Given the description of an element on the screen output the (x, y) to click on. 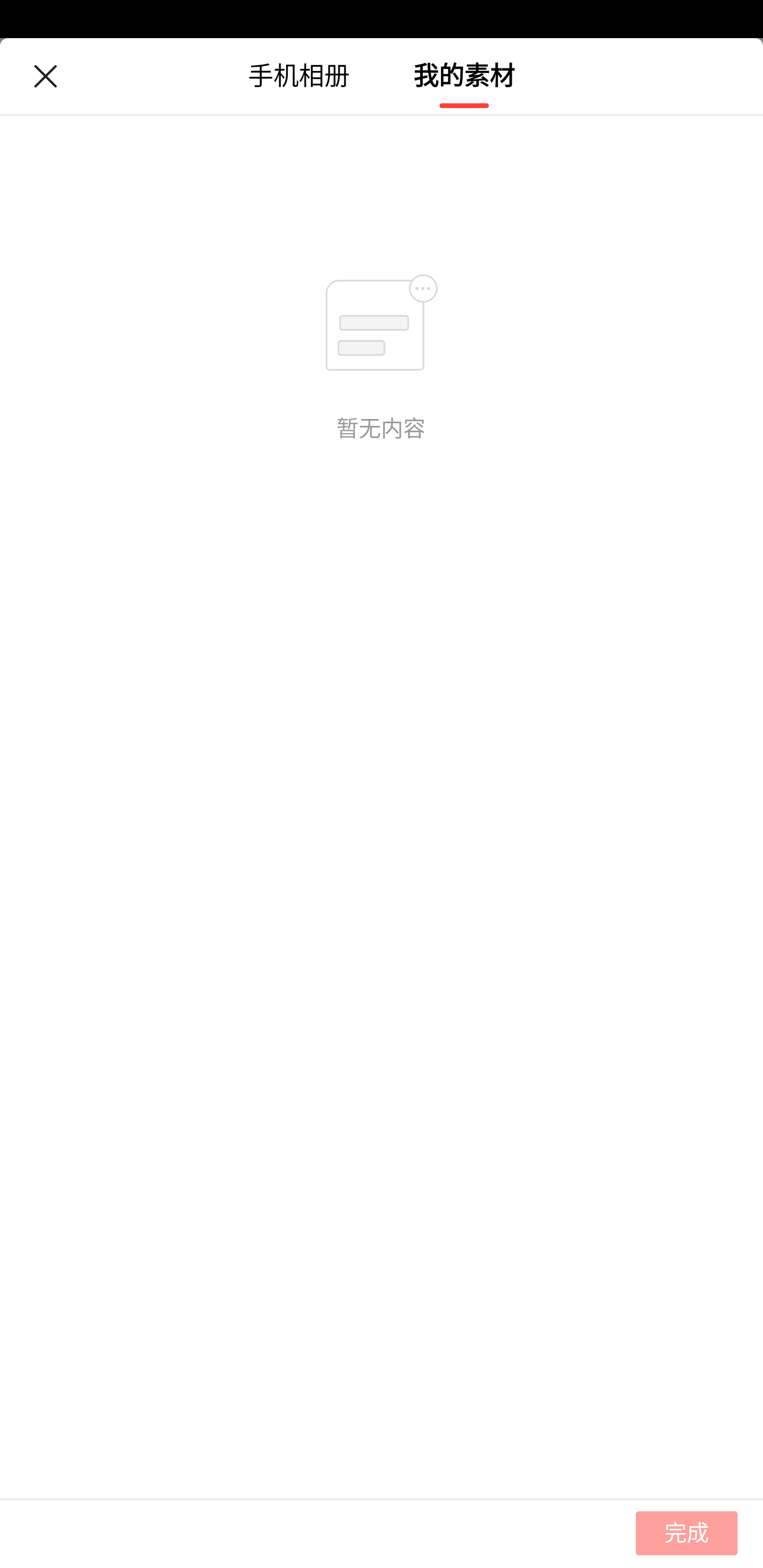
返回 (44, 75)
手机相册 (298, 75)
我的素材 (464, 75)
完成 (381, 1533)
